Given the description of an element on the screen output the (x, y) to click on. 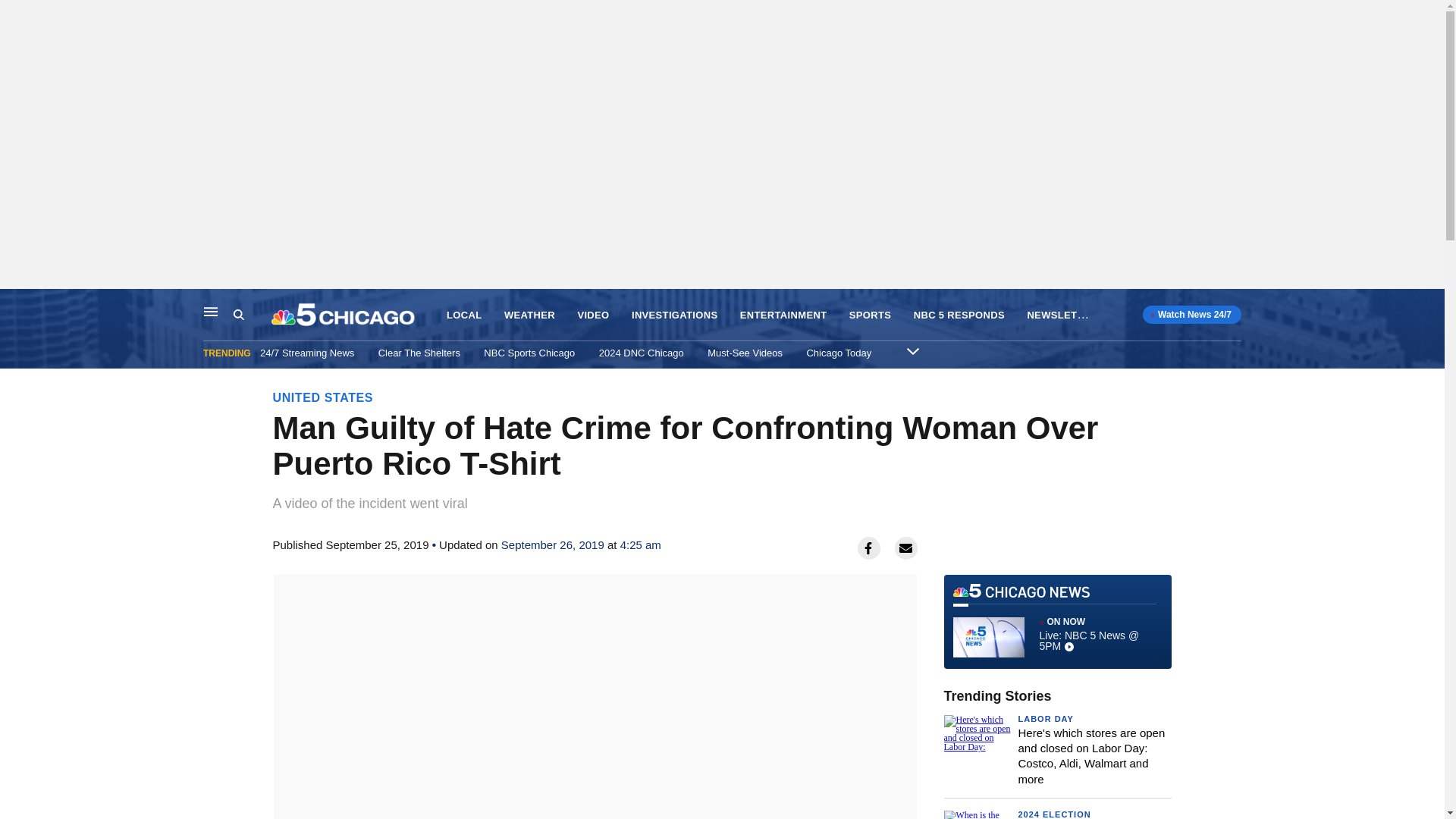
VIDEO (592, 315)
WEATHER (528, 315)
Search (252, 314)
SPORTS (869, 315)
NBC Sports Chicago (529, 352)
Skip to content (16, 304)
Chicago Today (838, 352)
ENTERTAINMENT (783, 315)
NEWSLETTERS (1064, 314)
2024 DNC Chicago (641, 352)
